Given the description of an element on the screen output the (x, y) to click on. 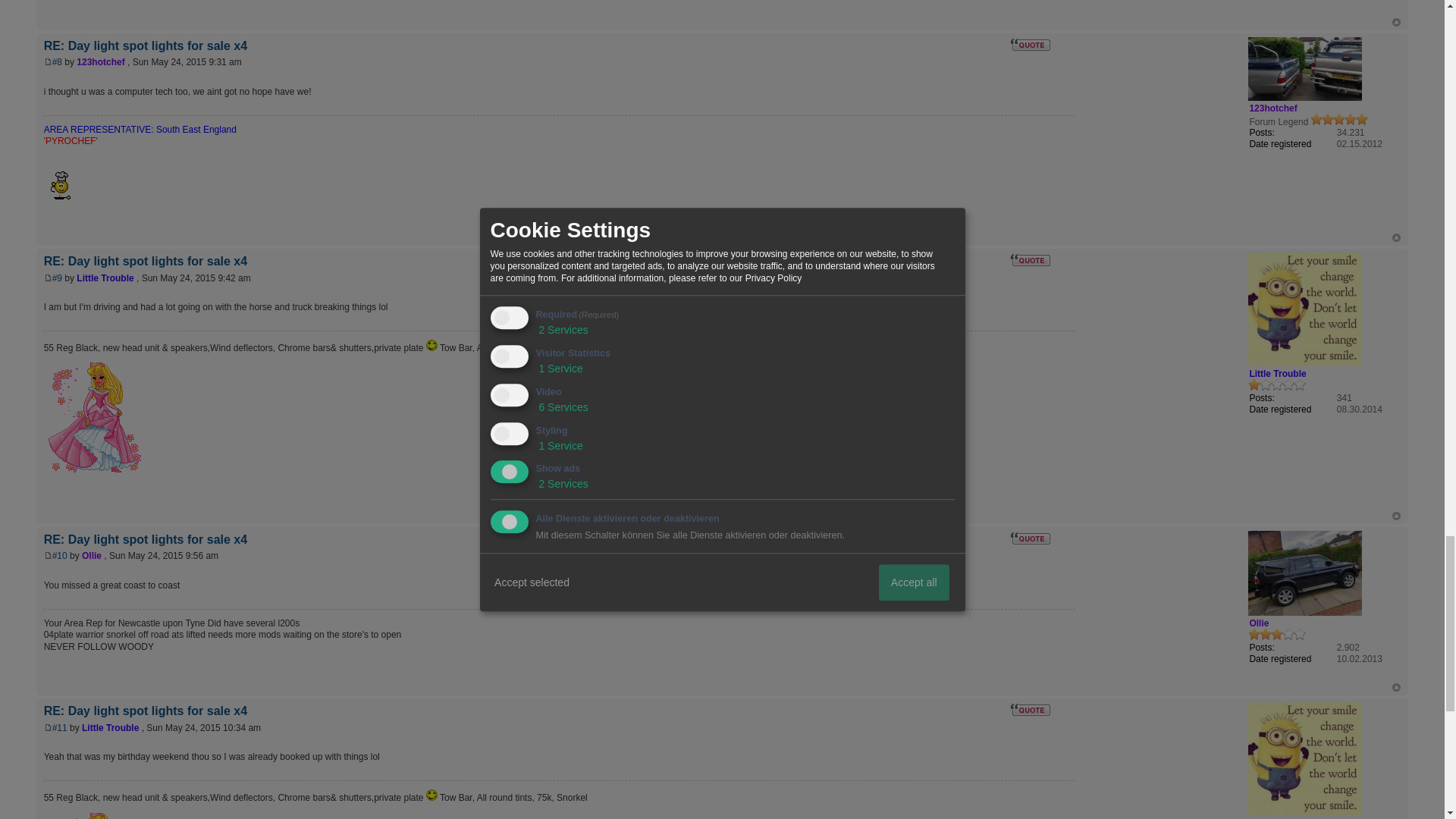
RE: Day light spot lights for sale x4 (57, 61)
Top (1395, 22)
